Given the description of an element on the screen output the (x, y) to click on. 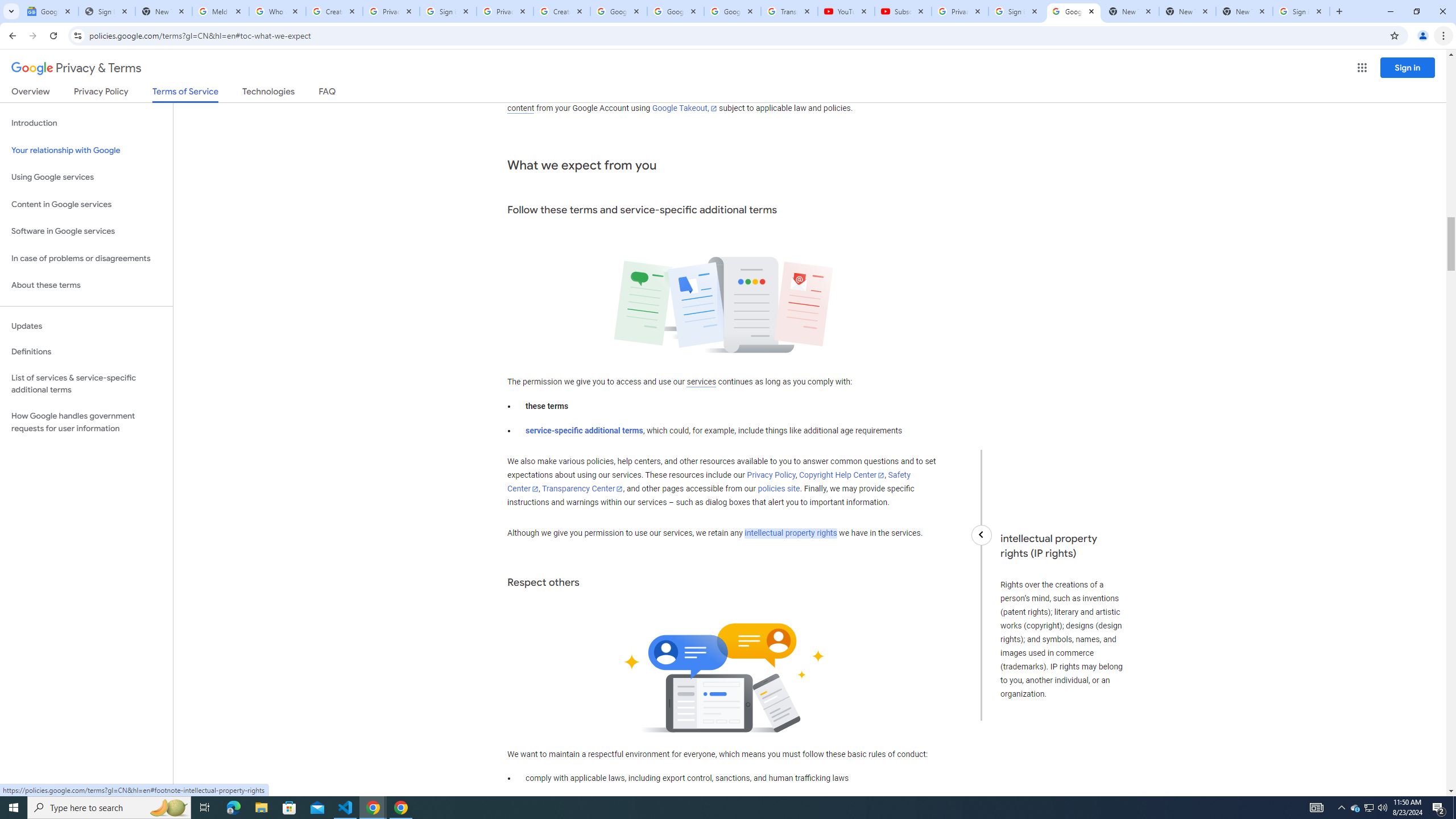
Your relationship with Google (86, 150)
Using Google services (86, 176)
Definitions (86, 352)
service-specific additional terms (584, 430)
New Tab (1244, 11)
How Google handles government requests for user information (86, 422)
Software in Google services (86, 230)
Technologies (268, 93)
Who is my administrator? - Google Account Help (277, 11)
policies site (778, 488)
